Given the description of an element on the screen output the (x, y) to click on. 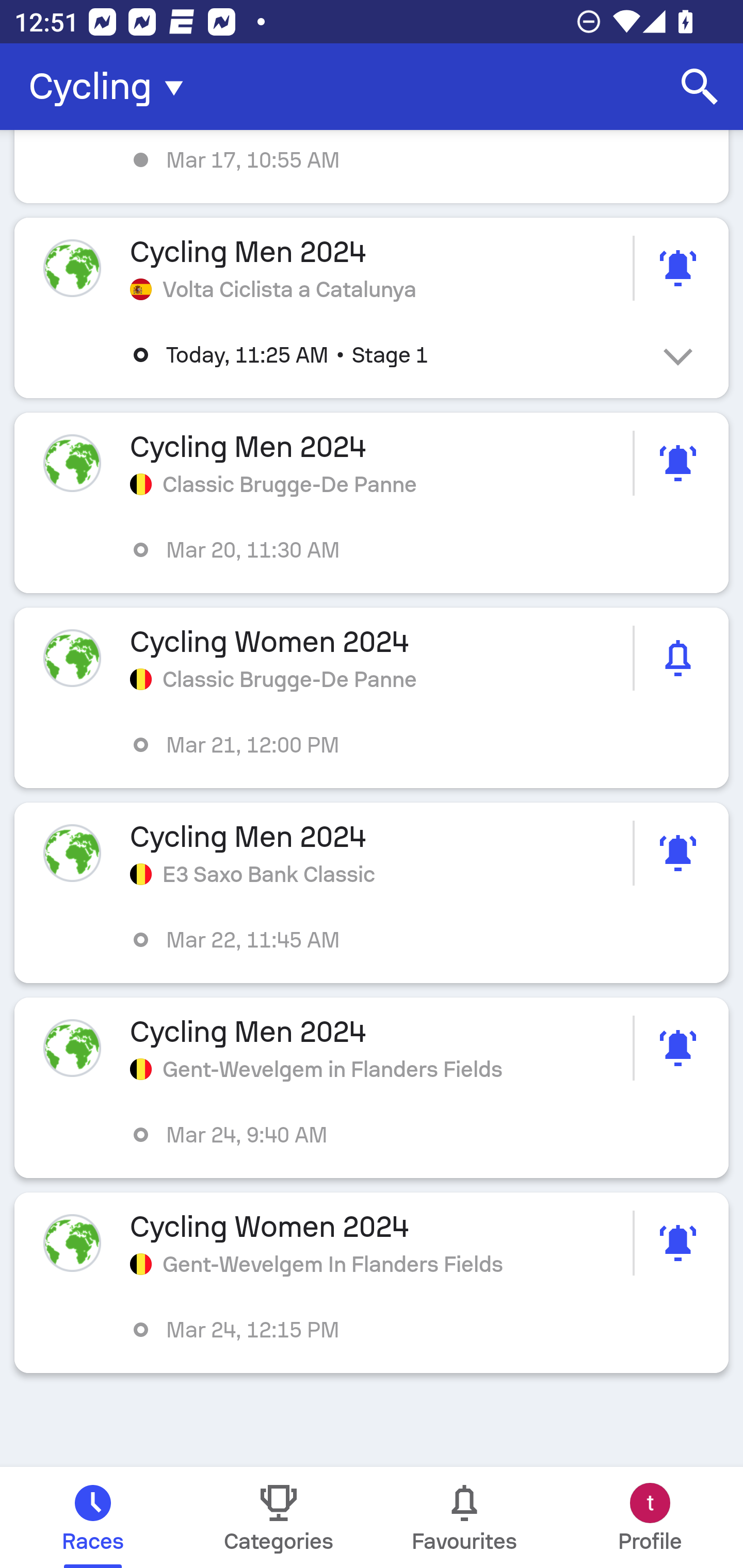
Cycling (111, 86)
Search (699, 86)
Mar 17, 10:55 AM (371, 166)
Today, 11:25 AM • Stage 1 (385, 355)
Categories (278, 1517)
Favourites (464, 1517)
Profile (650, 1517)
